Given the description of an element on the screen output the (x, y) to click on. 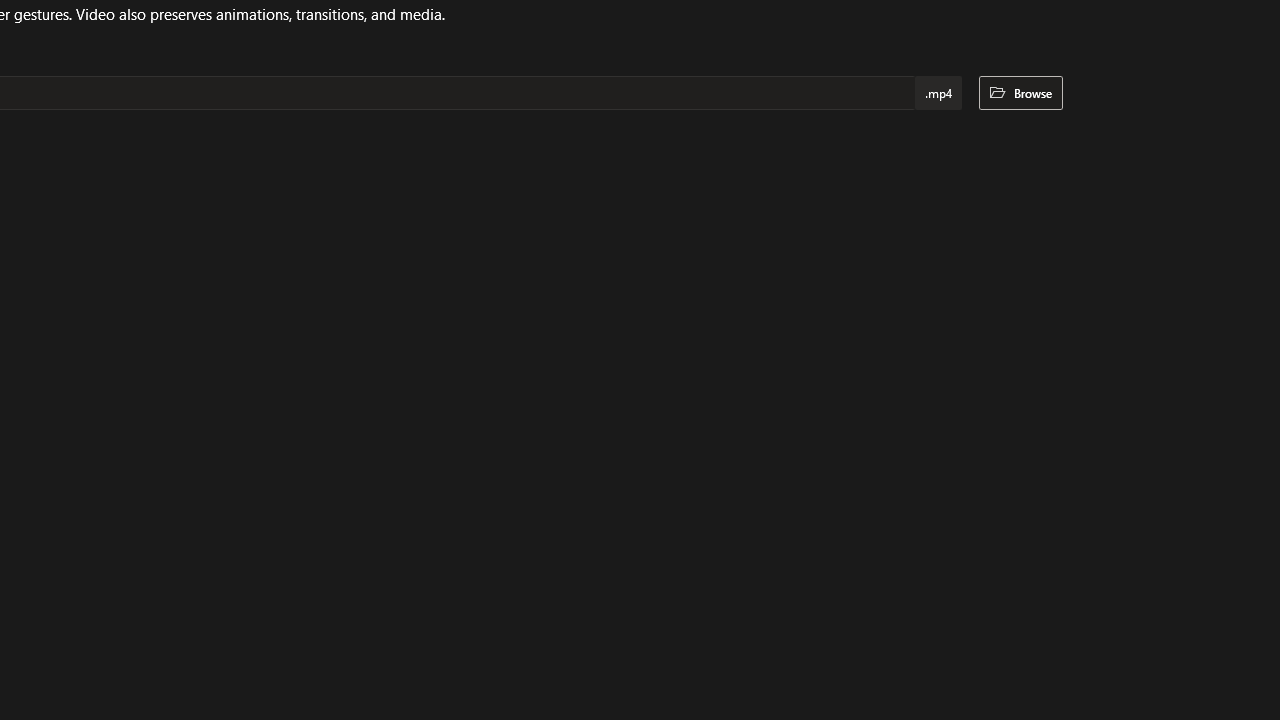
Zoom 59% (1236, 668)
